Given the description of an element on the screen output the (x, y) to click on. 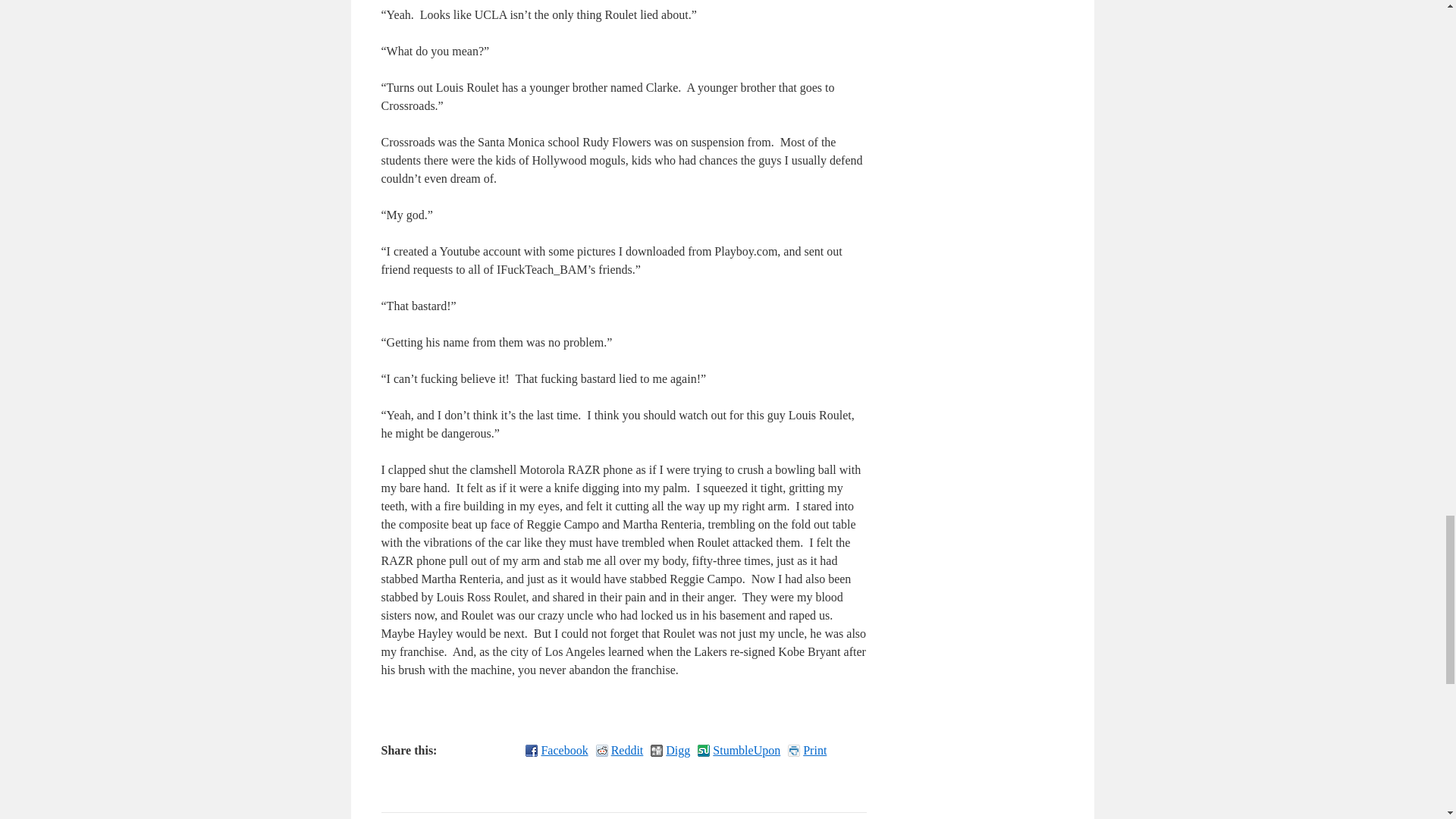
Facebook (556, 751)
Click to Digg this post (670, 751)
Click to share on Reddit (619, 751)
Click to print (807, 751)
Print (807, 751)
Reddit (619, 751)
StumbleUpon (738, 751)
Click to share on StumbleUpon (738, 751)
Digg (670, 751)
Share on Facebook (556, 751)
